Given the description of an element on the screen output the (x, y) to click on. 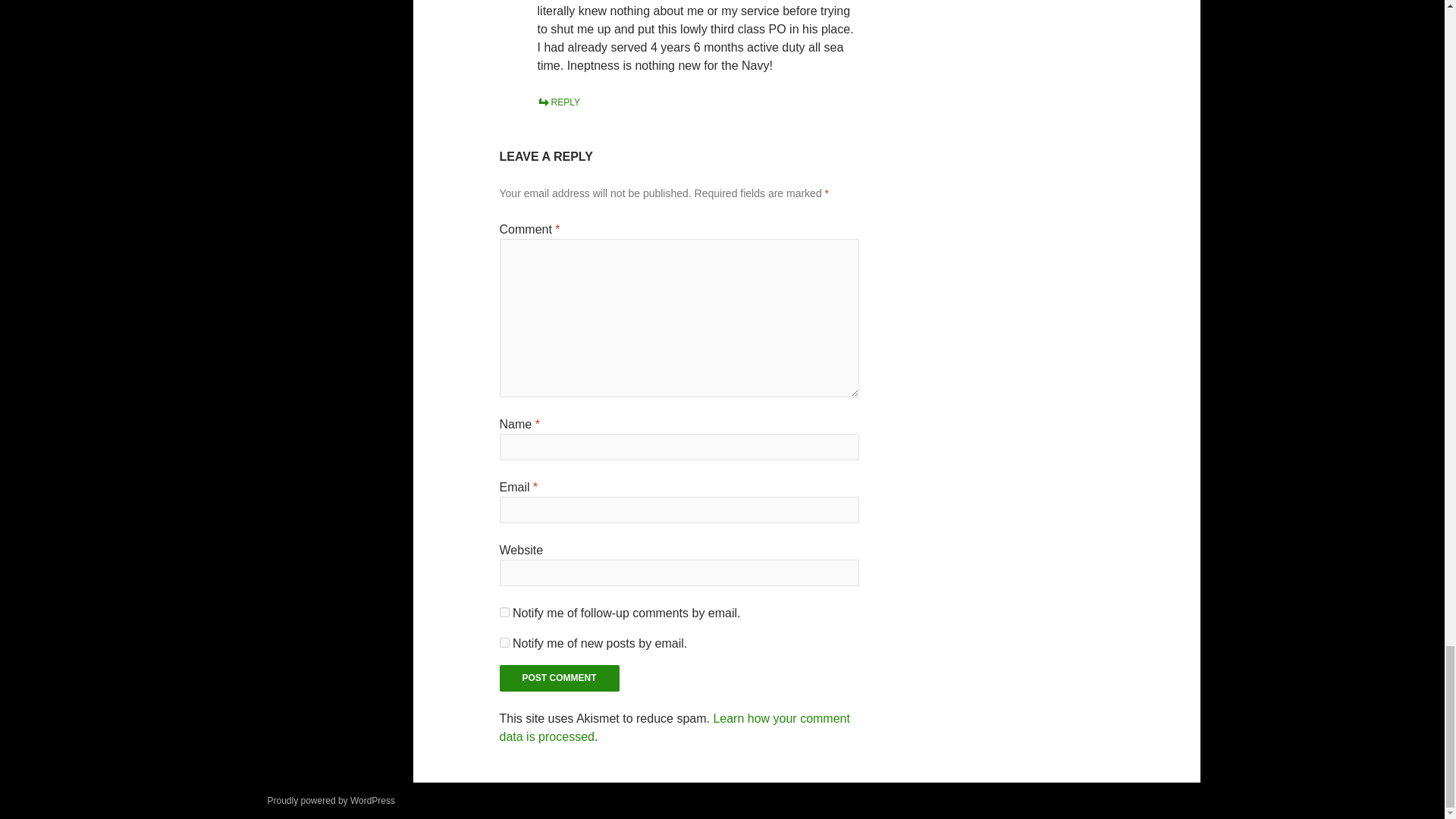
subscribe (504, 642)
Post Comment (559, 678)
subscribe (504, 612)
